Given the description of an element on the screen output the (x, y) to click on. 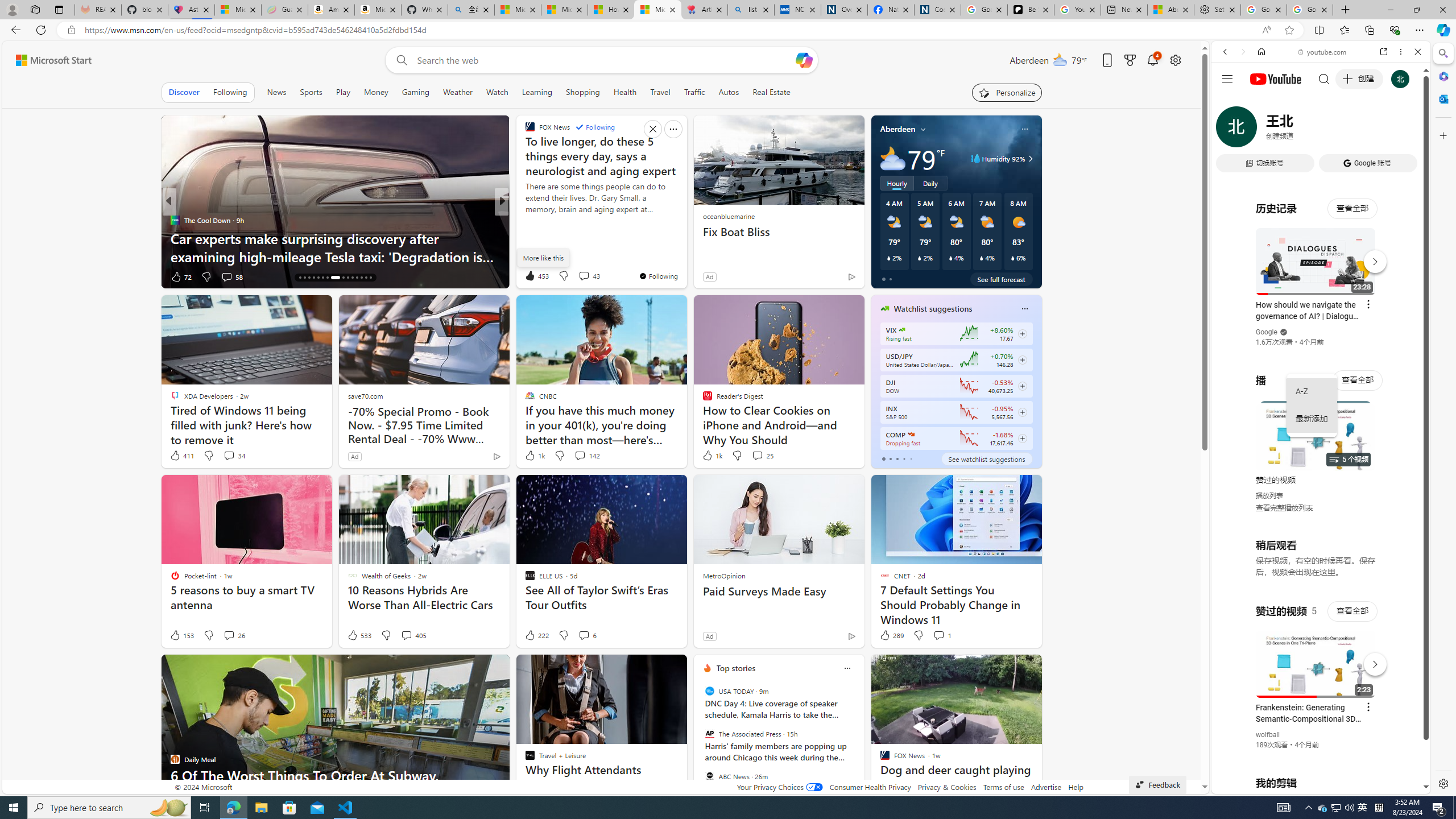
you (1315, 755)
YouTube - YouTube (1315, 560)
AutomationID: tab-24 (339, 277)
